Given the description of an element on the screen output the (x, y) to click on. 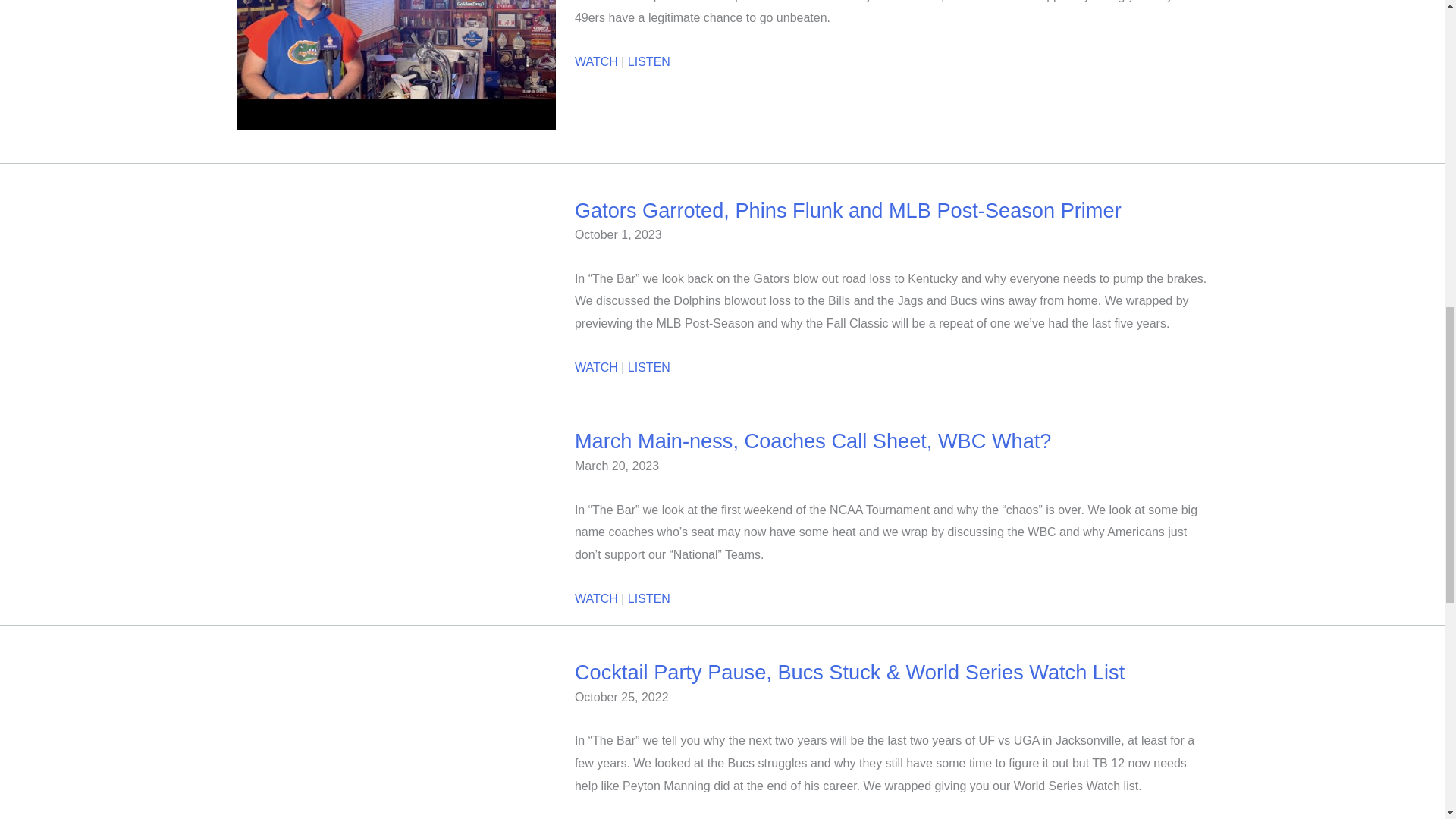
March Main-ness, Coaches Call Sheet, WBC What? (813, 440)
WATCH (596, 61)
LISTEN (648, 61)
Gators Garroted, Phins Flunk and MLB Post-Season Primer (848, 210)
LISTEN (648, 598)
LISTEN (648, 367)
WATCH (596, 598)
WATCH (596, 367)
